Given the description of an element on the screen output the (x, y) to click on. 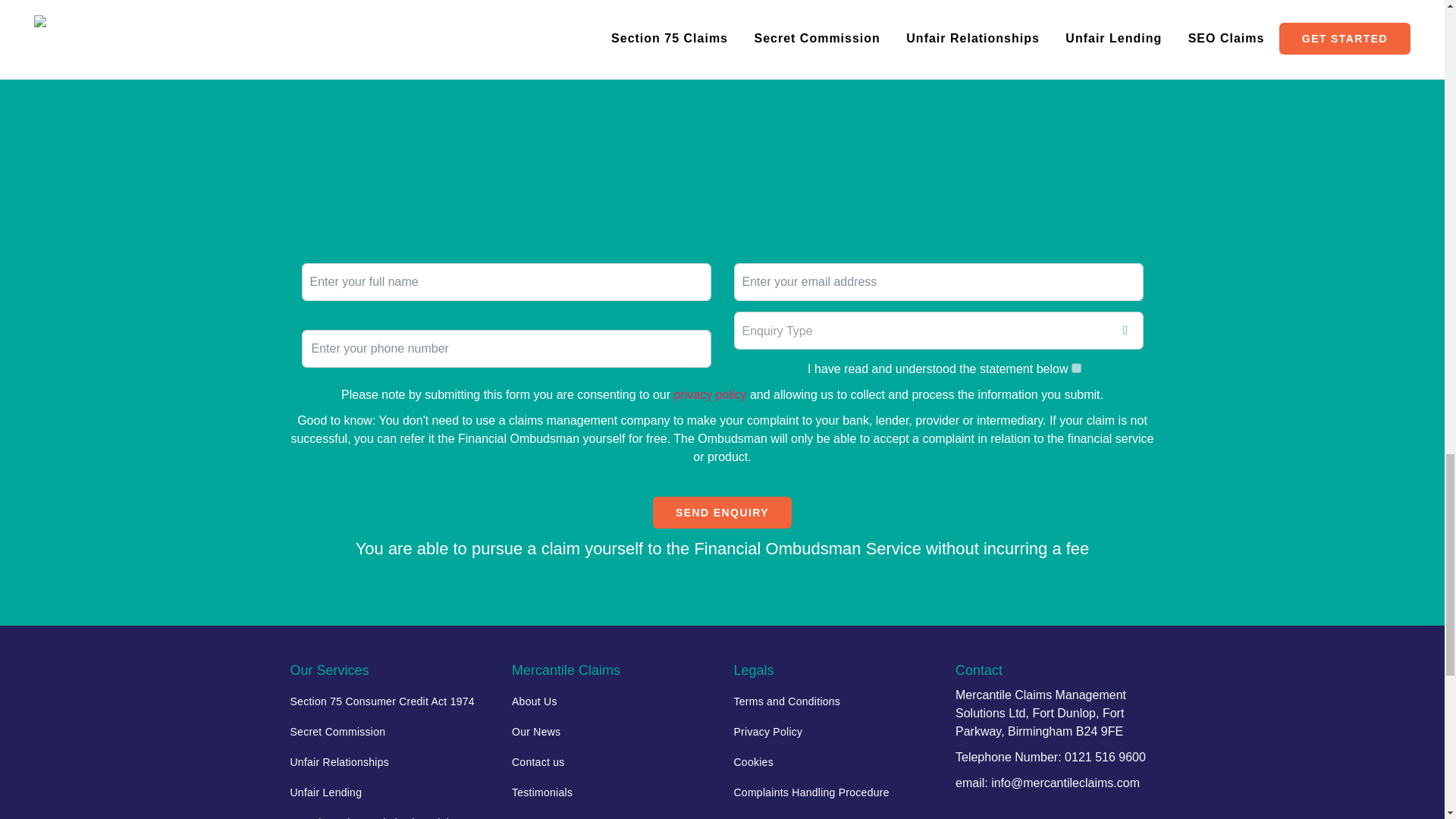
Section 75 Consumer Credit Act 1974 (389, 701)
privacy policy (708, 394)
Send Enquiry (722, 512)
I have read and understood the statement below (1076, 368)
Secret Commission (389, 731)
Send Enquiry (722, 512)
Unfair Relationships (389, 761)
